Given the description of an element on the screen output the (x, y) to click on. 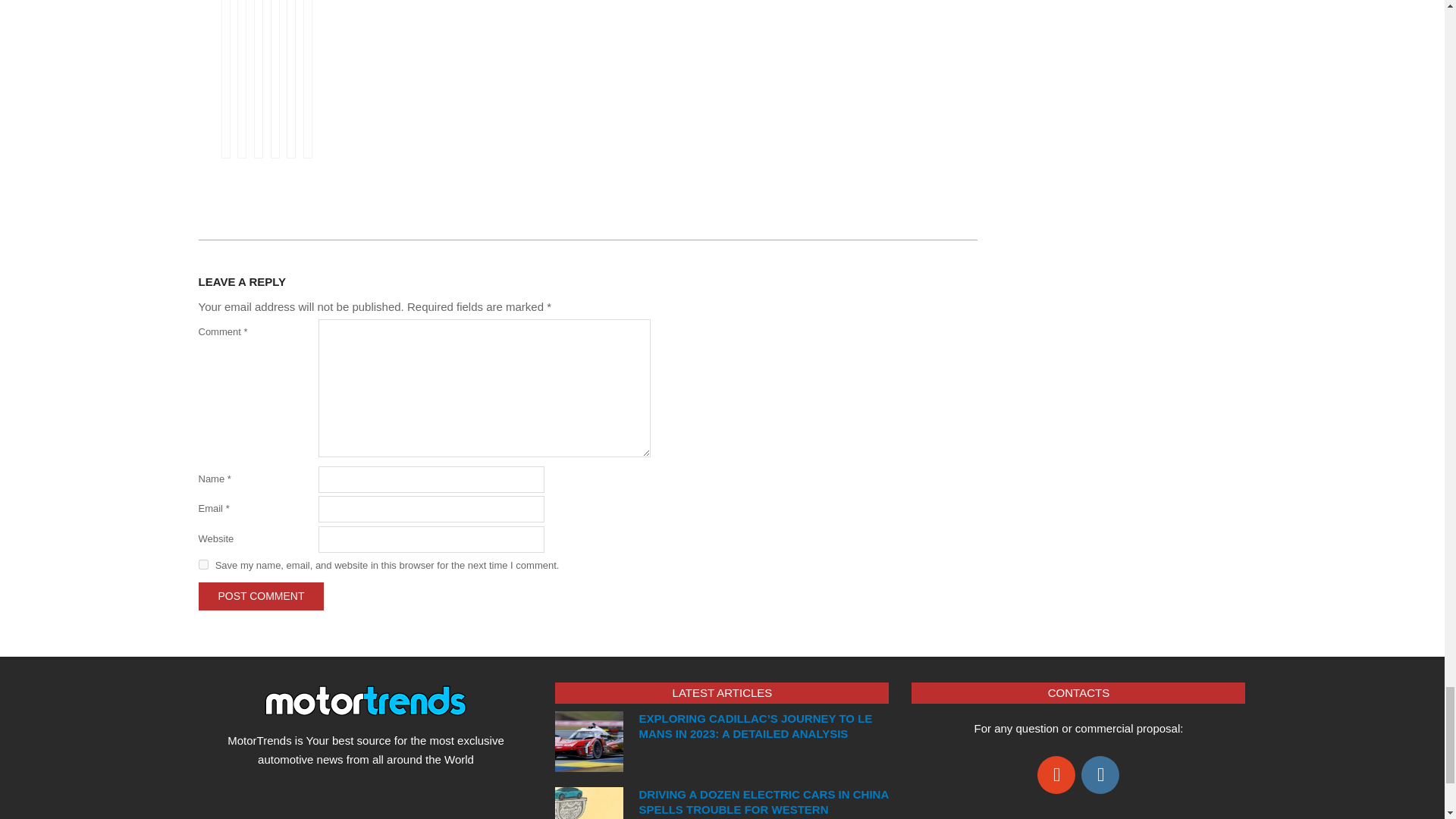
Post Comment (261, 596)
yes (203, 564)
Post Comment (261, 596)
